Given the description of an element on the screen output the (x, y) to click on. 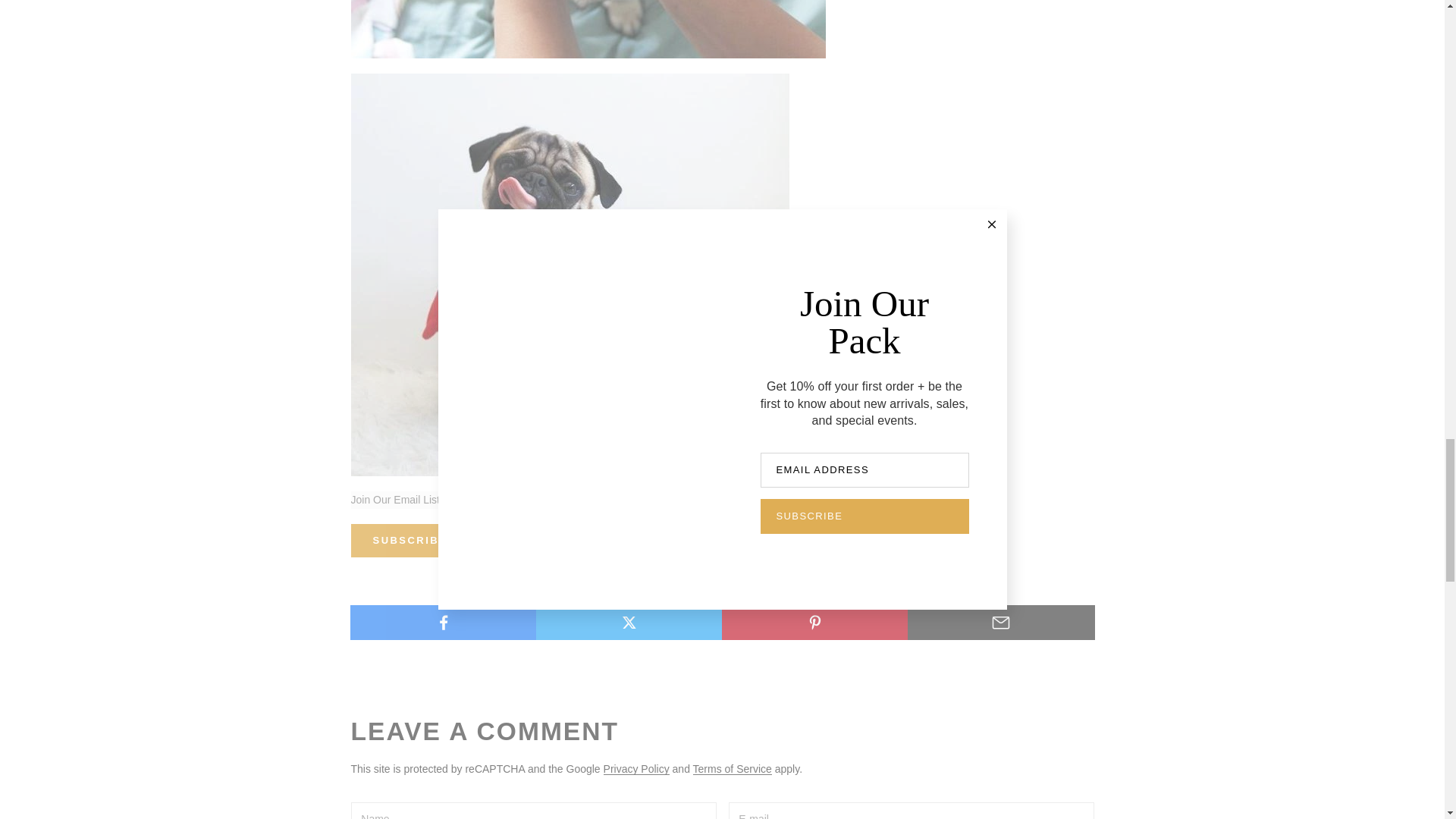
Subscribe (409, 540)
Subscribe (409, 540)
